Given the description of an element on the screen output the (x, y) to click on. 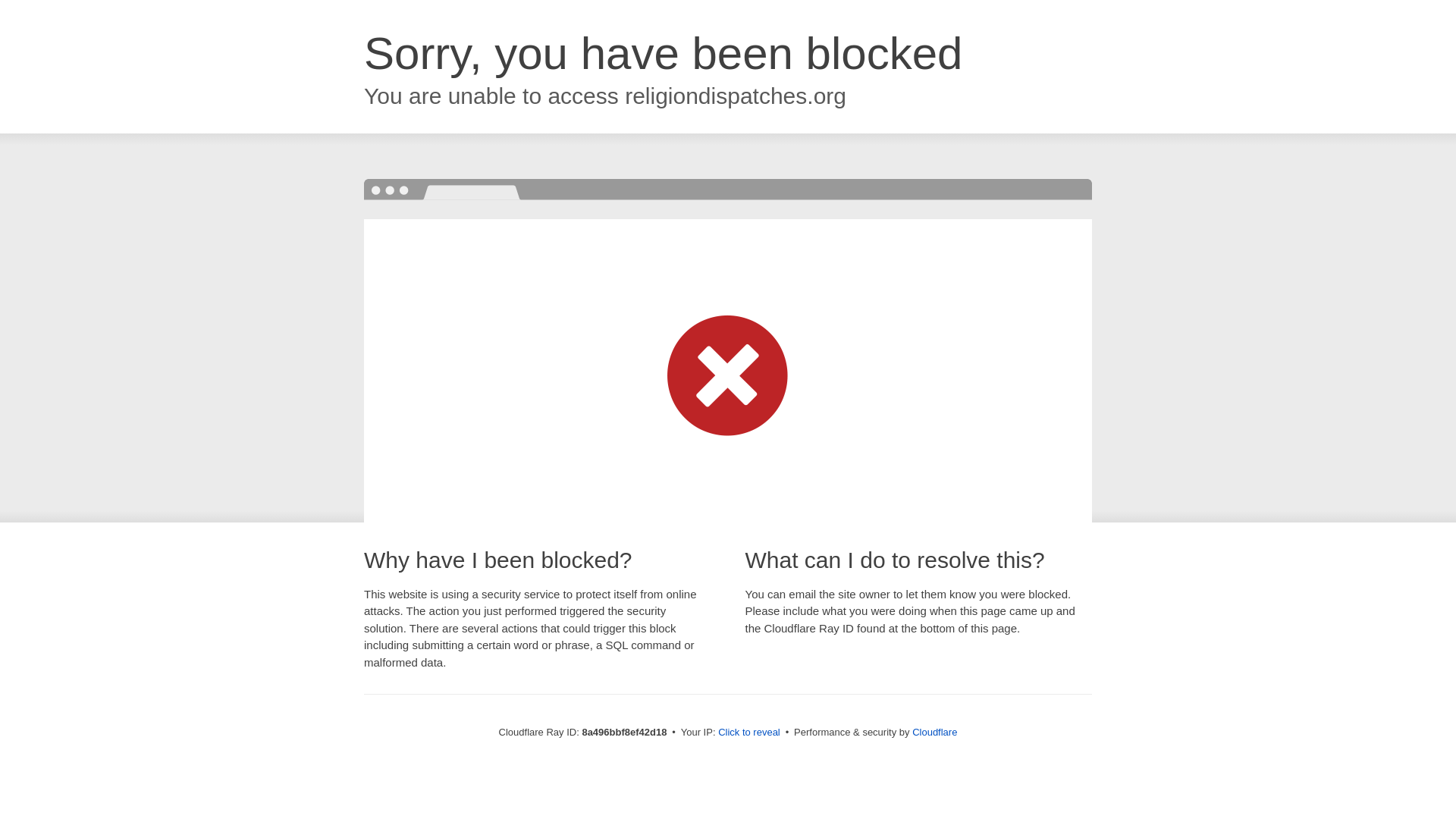
Click to reveal (748, 732)
Cloudflare (934, 731)
